Given the description of an element on the screen output the (x, y) to click on. 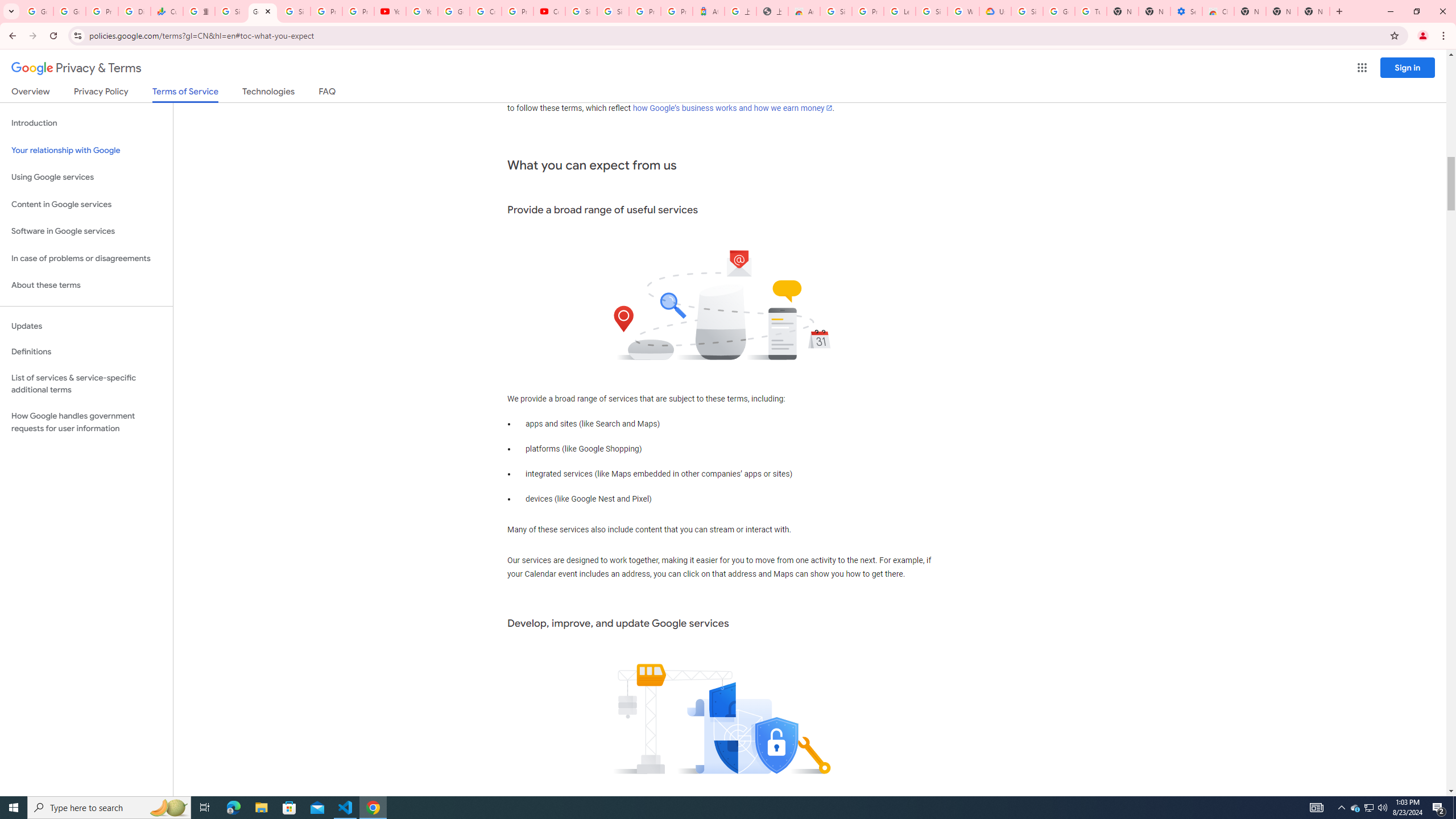
Your relationship with Google (86, 150)
Minimize (1390, 11)
In case of problems or disagreements (86, 258)
Awesome Screen Recorder & Screenshot - Chrome Web Store (804, 11)
Privacy & Terms (76, 68)
services (874, 94)
Sign in - Google Accounts (931, 11)
View site information (77, 35)
Software in Google services (86, 230)
Privacy Policy (100, 93)
Close (267, 11)
New Tab (1249, 11)
YouTube (421, 11)
